Given the description of an element on the screen output the (x, y) to click on. 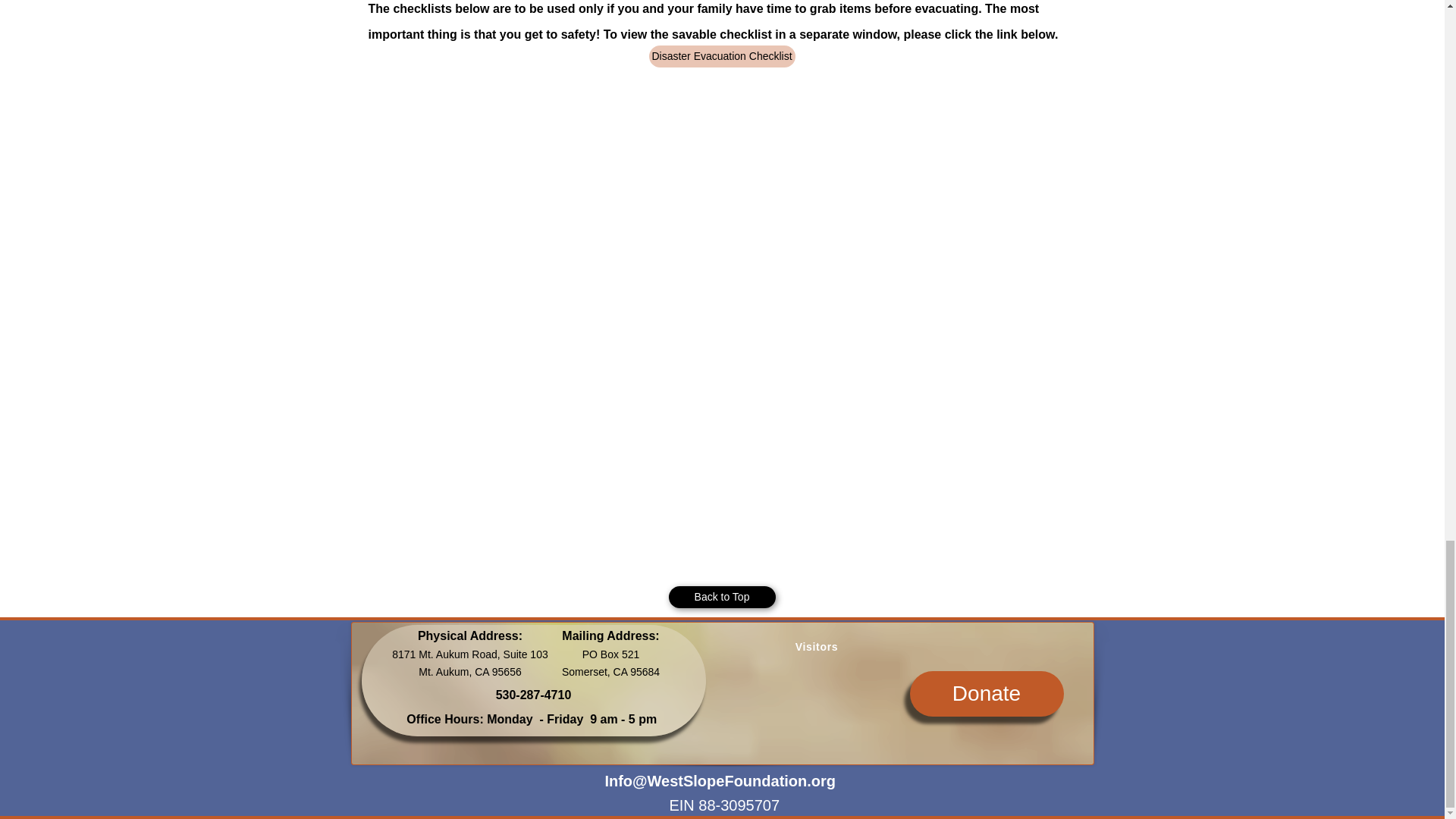
New Life concept with seedling growing s (721, 692)
